Given the description of an element on the screen output the (x, y) to click on. 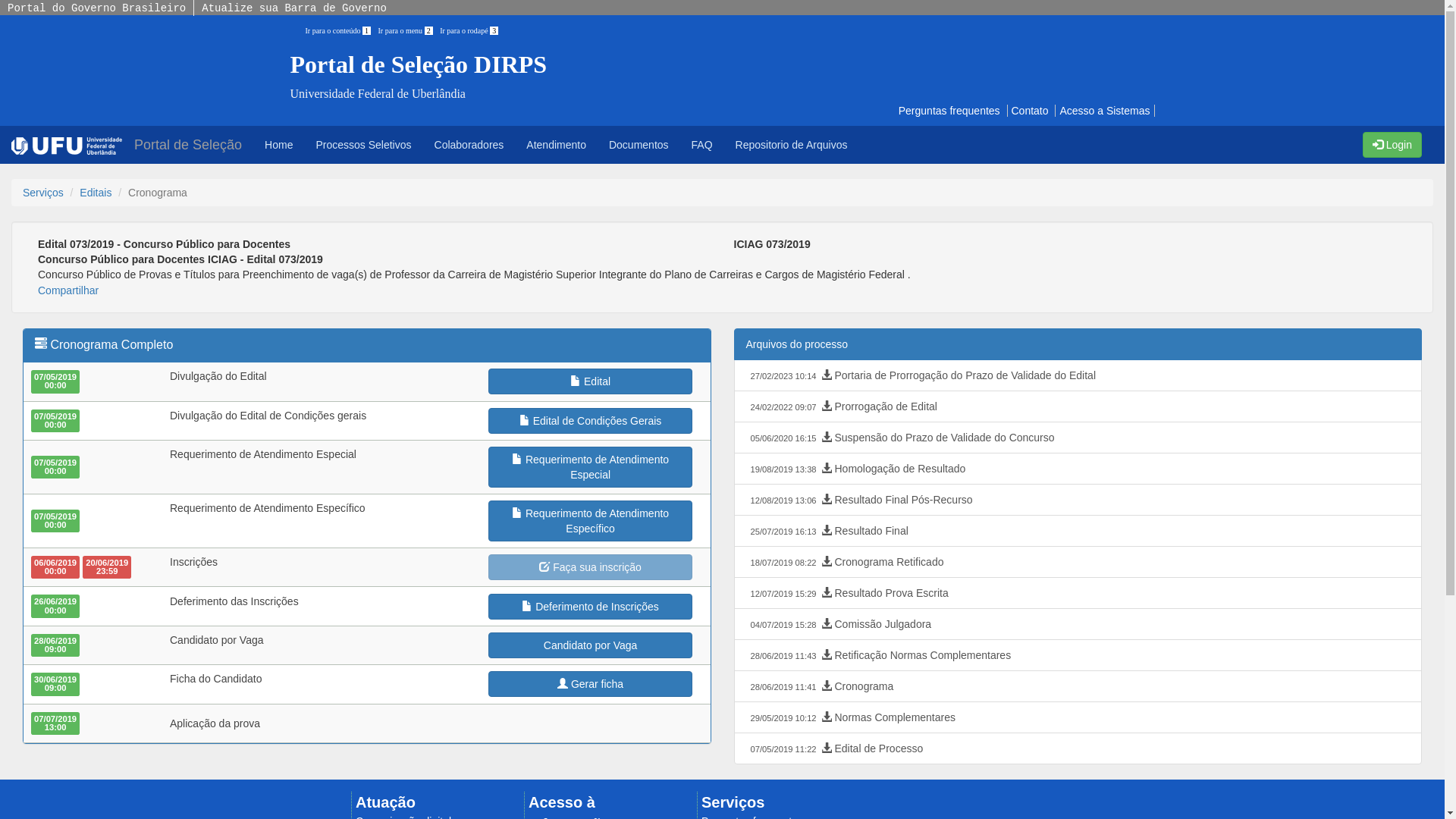
Gerar ficha Element type: text (590, 683)
Atualize sua Barra de Governo Element type: text (293, 8)
Documentos Element type: text (638, 144)
12/07/2019 15:29 Resultado Prova Escrita Element type: text (1078, 592)
29/05/2019 10:12 Normas Complementares Element type: text (1078, 717)
18/07/2019 08:22 Cronograma Retificado Element type: text (1078, 561)
Arquivos do processo Element type: text (1078, 344)
Acesso a Sistemas Element type: text (1104, 110)
Edital Element type: text (590, 381)
25/07/2019 16:13 Resultado Final Element type: text (1078, 530)
Atendimento Element type: text (555, 144)
Ir para o menu 2 Element type: text (409, 30)
28/06/2019 11:41 Cronograma Element type: text (1078, 686)
Perguntas frequentes Element type: text (949, 110)
FAQ Element type: text (702, 144)
Compartilhar Element type: text (67, 290)
Portal do Governo Brasileiro Element type: text (96, 8)
07/05/2019 11:22 Edital de Processo Element type: text (1078, 748)
Candidato por Vaga Element type: text (590, 645)
Contato Element type: text (1029, 110)
Colaboradores Element type: text (469, 144)
Requerimento de Atendimento Especial Element type: text (590, 466)
Editais Element type: text (95, 192)
Processos Seletivos Element type: text (363, 144)
Login Element type: text (1391, 144)
Home Element type: text (278, 144)
Repositorio de Arquivos Element type: text (791, 144)
